Given the description of an element on the screen output the (x, y) to click on. 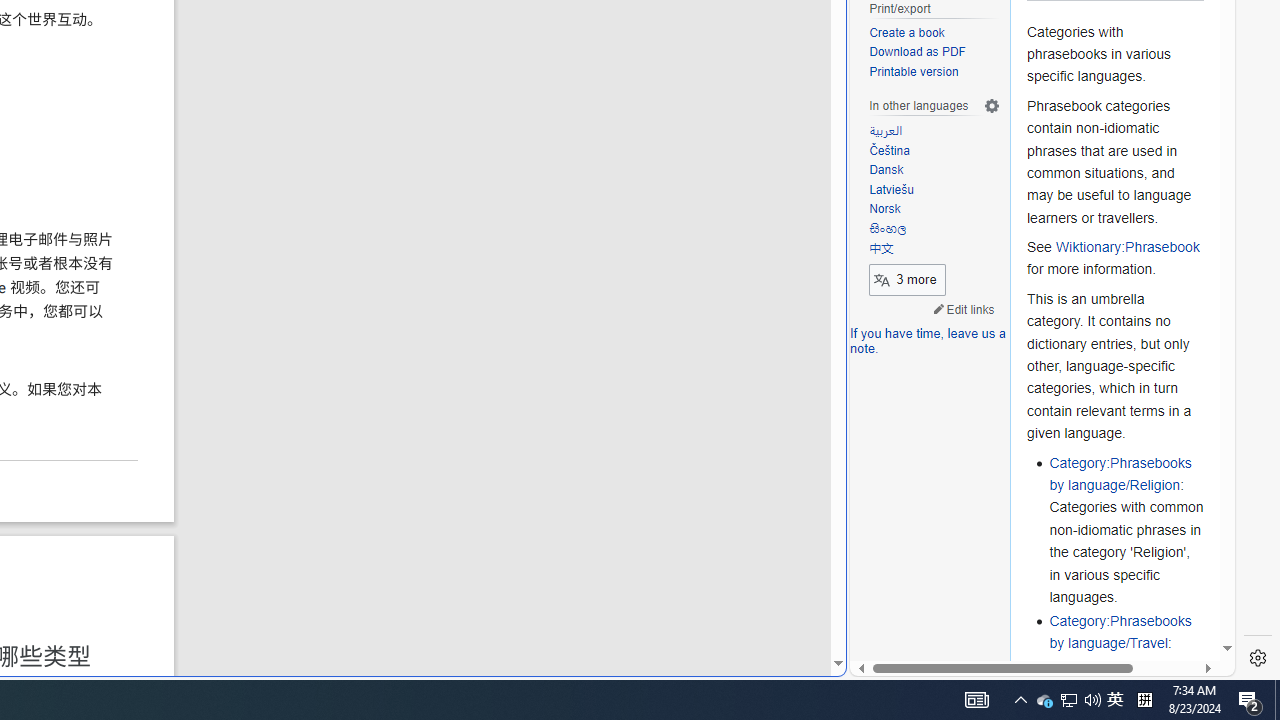
Download as PDF (917, 51)
Norsk (885, 209)
Edit links (964, 308)
Wiktionary:Phrasebook (1127, 247)
Category:Phrasebooks by language/Religion (1120, 473)
Norsk (934, 210)
Dansk (934, 170)
